Given the description of an element on the screen output the (x, y) to click on. 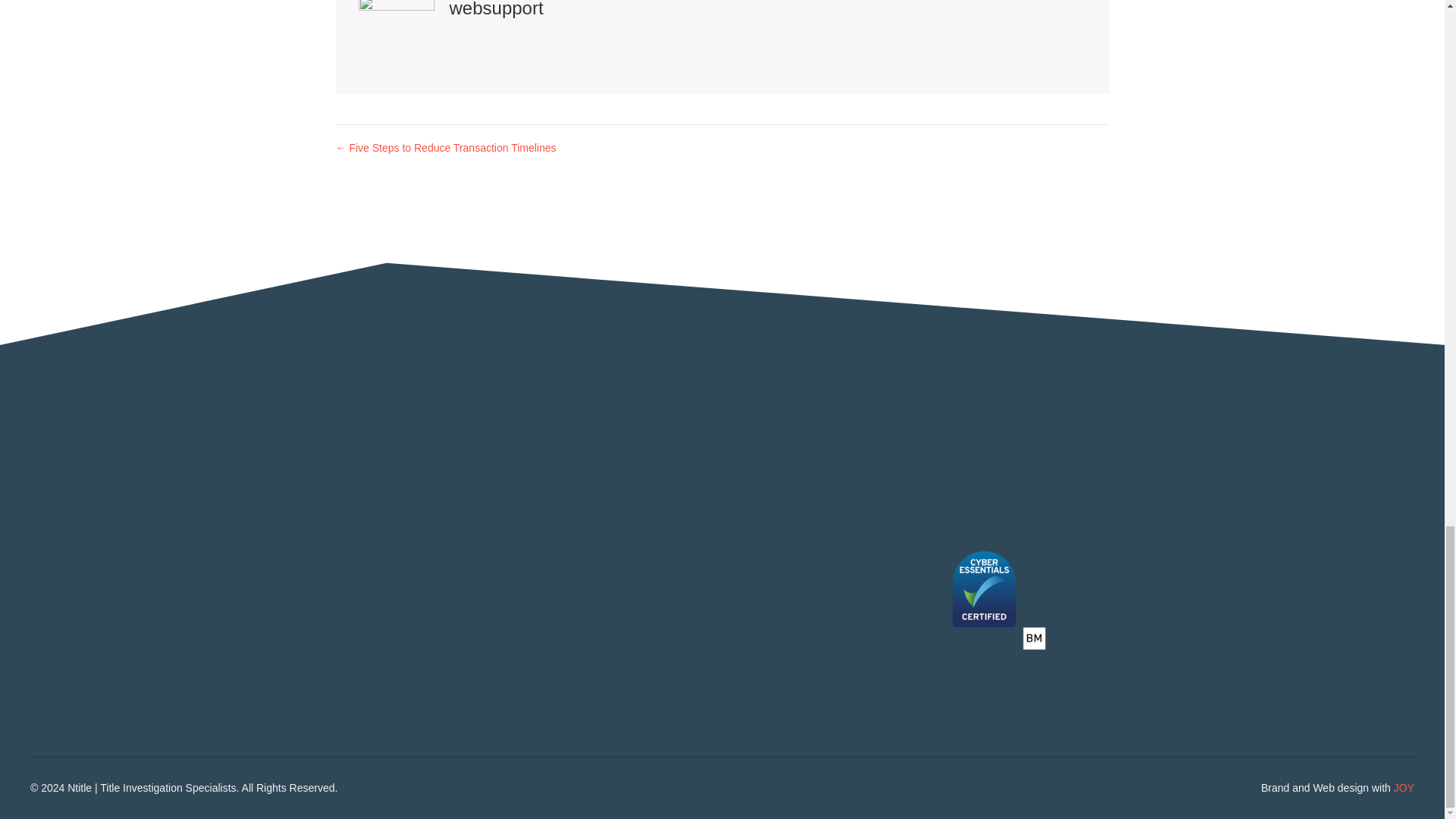
JOY (1403, 787)
